Given the description of an element on the screen output the (x, y) to click on. 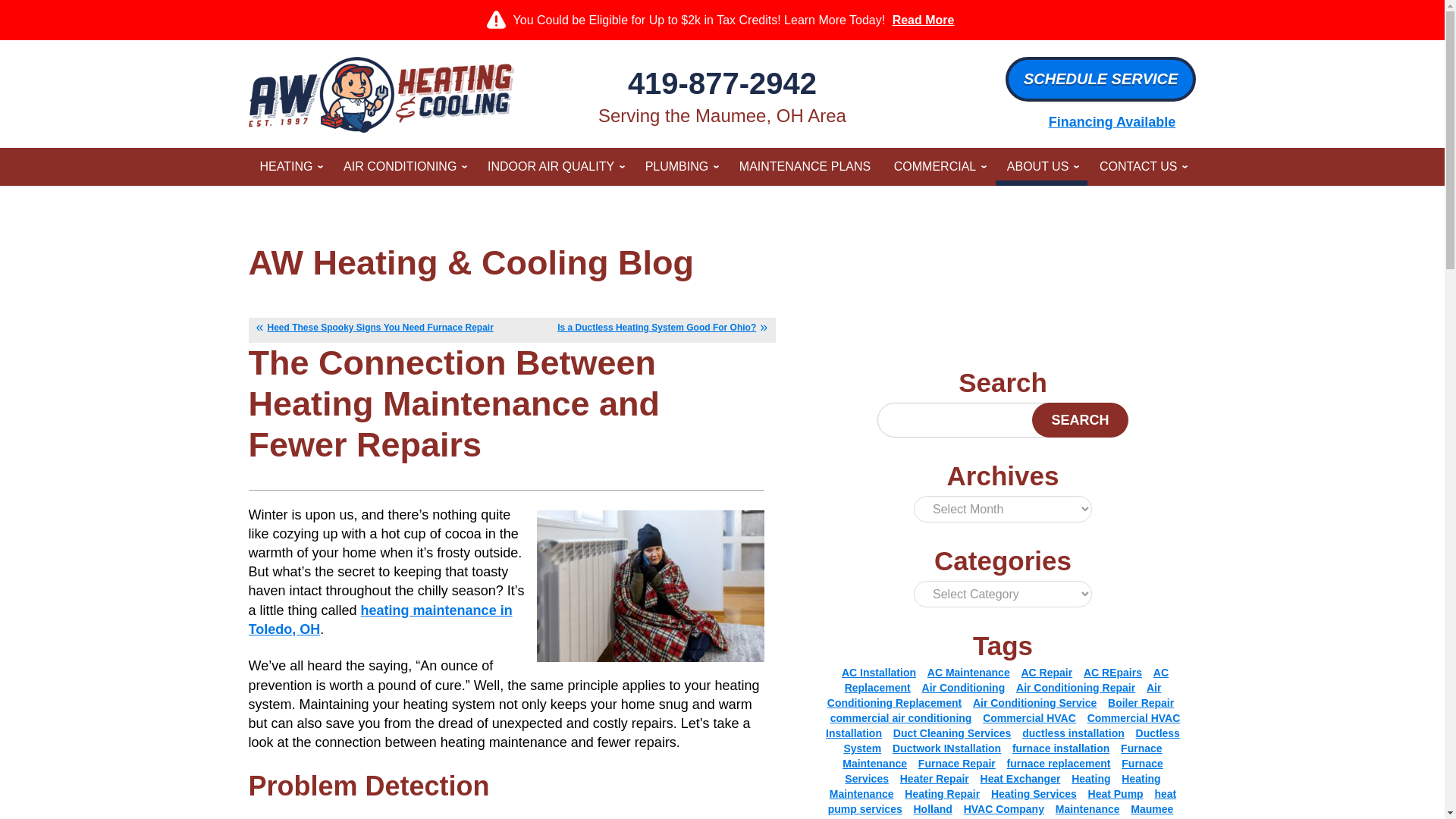
SCHEDULE SERVICE (1100, 78)
Read More (923, 19)
INDOOR AIR QUALITY (554, 166)
419-877-2942 (721, 82)
HEATING (289, 166)
AIR CONDITIONING (403, 166)
Financing Available (1112, 121)
